Given the description of an element on the screen output the (x, y) to click on. 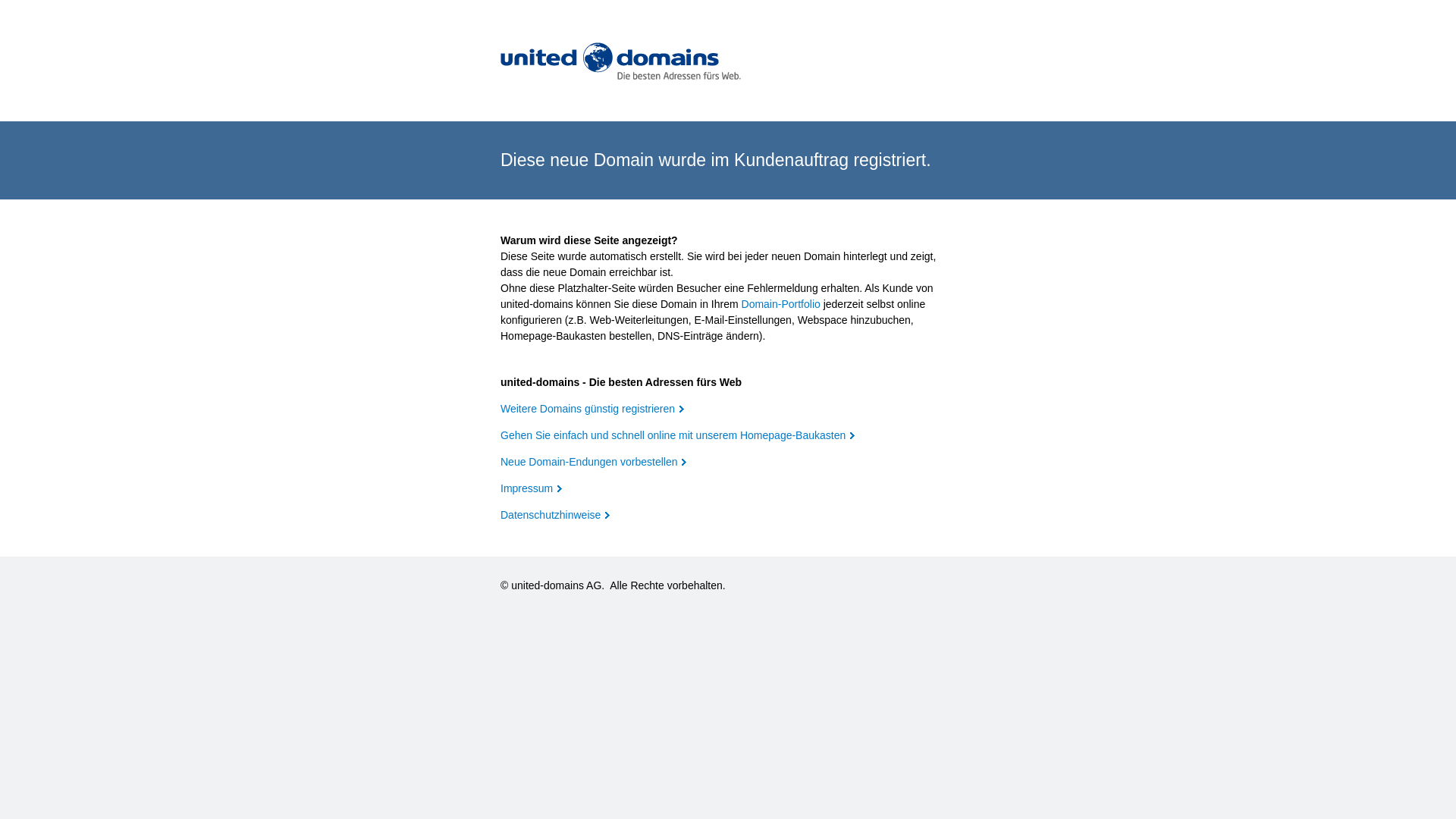
Neue Domain-Endungen vorbestellen Element type: text (593, 461)
Datenschutzhinweise Element type: text (554, 514)
Impressum Element type: text (530, 488)
Domain-Portfolio Element type: text (780, 304)
